Given the description of an element on the screen output the (x, y) to click on. 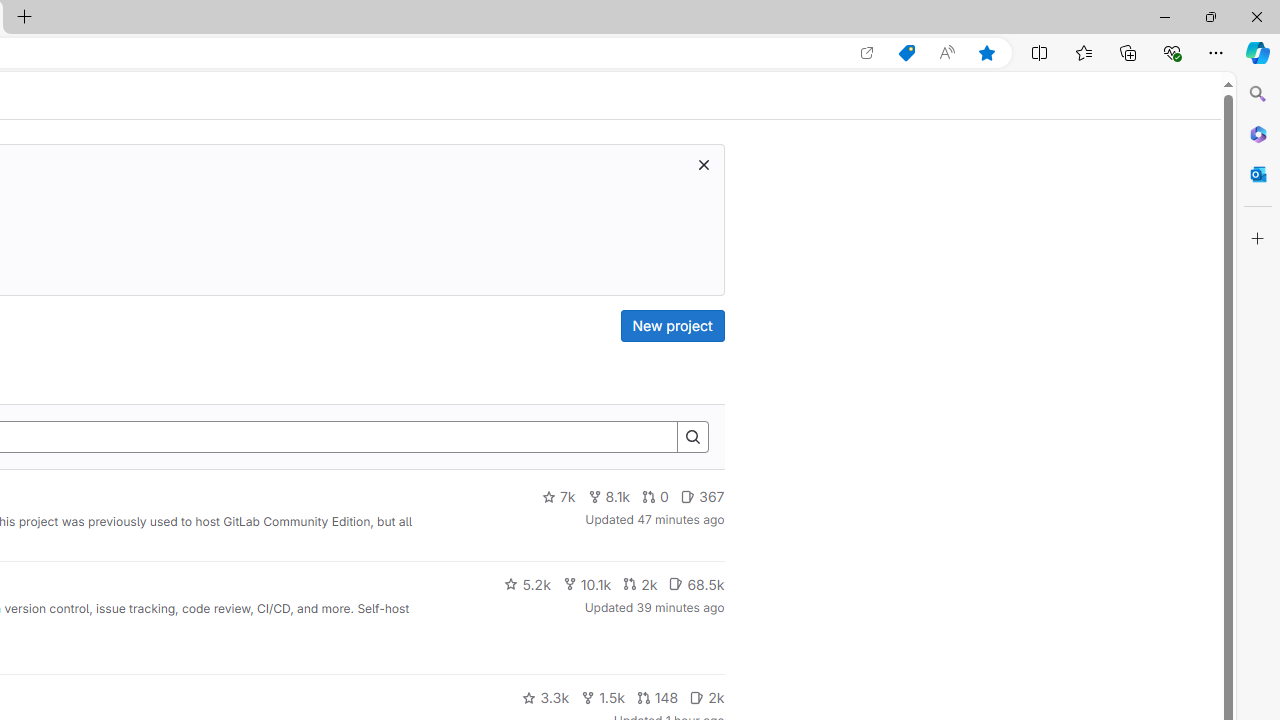
3.3k (545, 697)
0 (655, 497)
Class: s14 gl-mr-2 (697, 696)
367 (701, 497)
7k (558, 497)
